Given the description of an element on the screen output the (x, y) to click on. 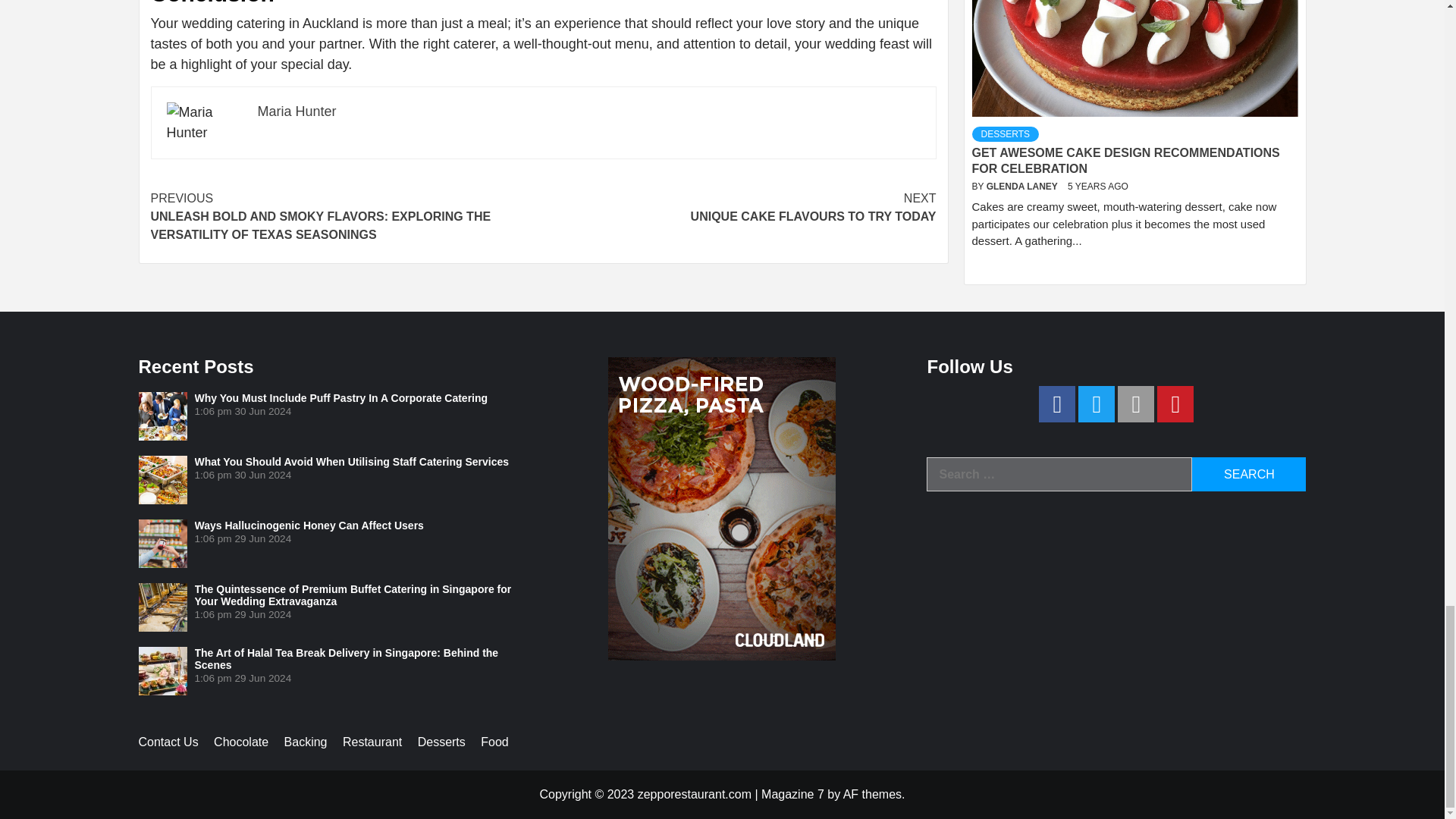
Search (1249, 474)
Twitter (1096, 403)
Pinterest (1175, 403)
Facebook (1057, 403)
LinkedIn (1136, 403)
Maria Hunter (296, 111)
Search (1249, 474)
